Given the description of an element on the screen output the (x, y) to click on. 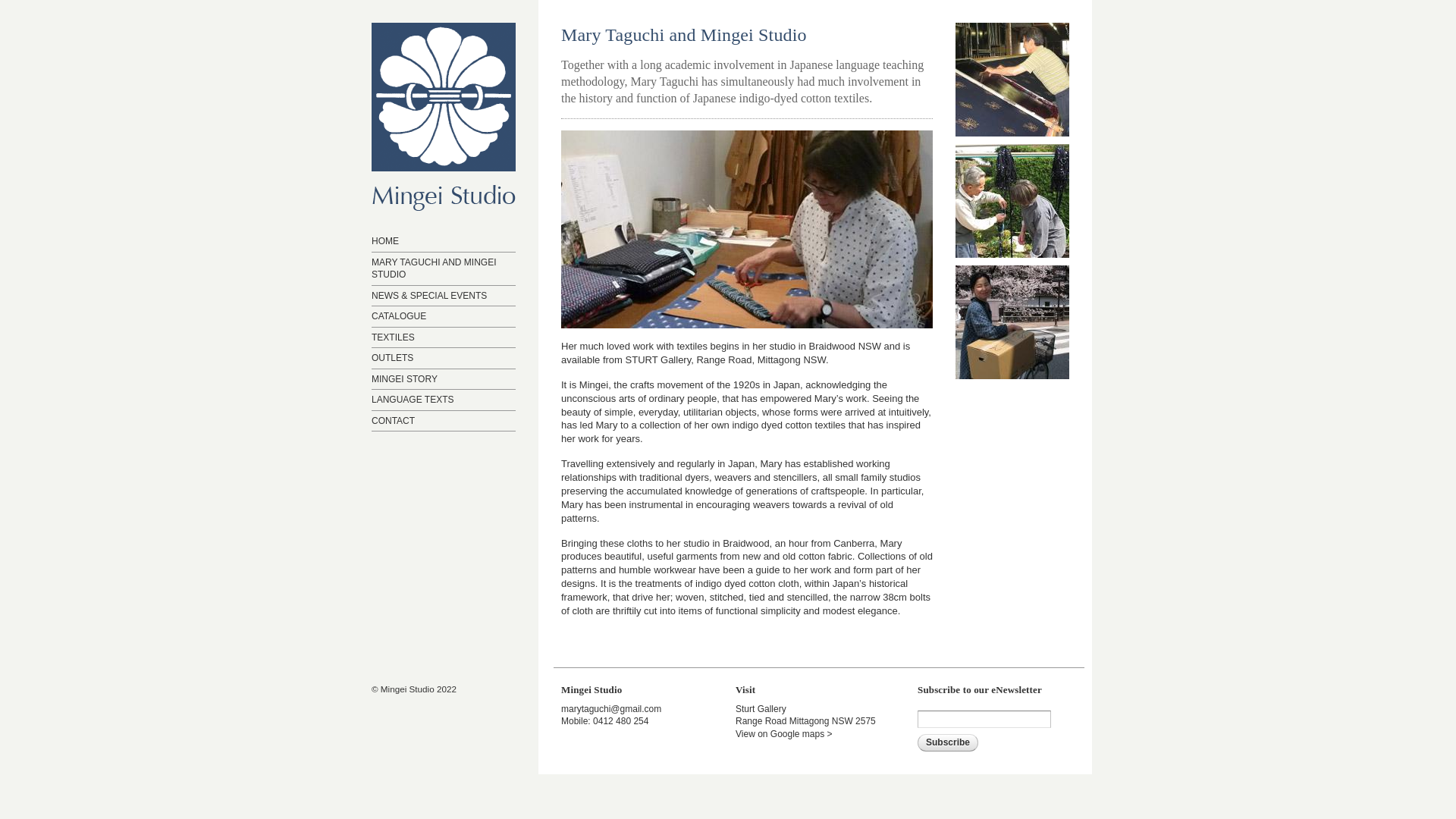
MARY TAGUCHI AND MINGEI STUDIO Element type: text (433, 267)
NEWS & SPECIAL EVENTS Element type: text (428, 294)
MINGEI STORY Element type: text (404, 378)
LANGUAGE TEXTS Element type: text (412, 399)
STURT Gallery, Range Road, Mittagong NSW. Element type: text (726, 359)
marytaguchi@gmail.com Element type: text (611, 708)
CATALOGUE Element type: text (398, 315)
Mary Taguchi  Element type: hover (746, 320)
Skip to main content Element type: text (700, 1)
0412 480 254 Element type: text (620, 720)
Subscribe Element type: text (947, 742)
CONTACT Element type: text (392, 420)
OUTLETS Element type: text (392, 357)
TEXTILES Element type: text (392, 337)
View on Google maps > Element type: text (783, 733)
HOME Element type: text (384, 240)
Mary Taguchi  Element type: hover (746, 229)
